Given the description of an element on the screen output the (x, y) to click on. 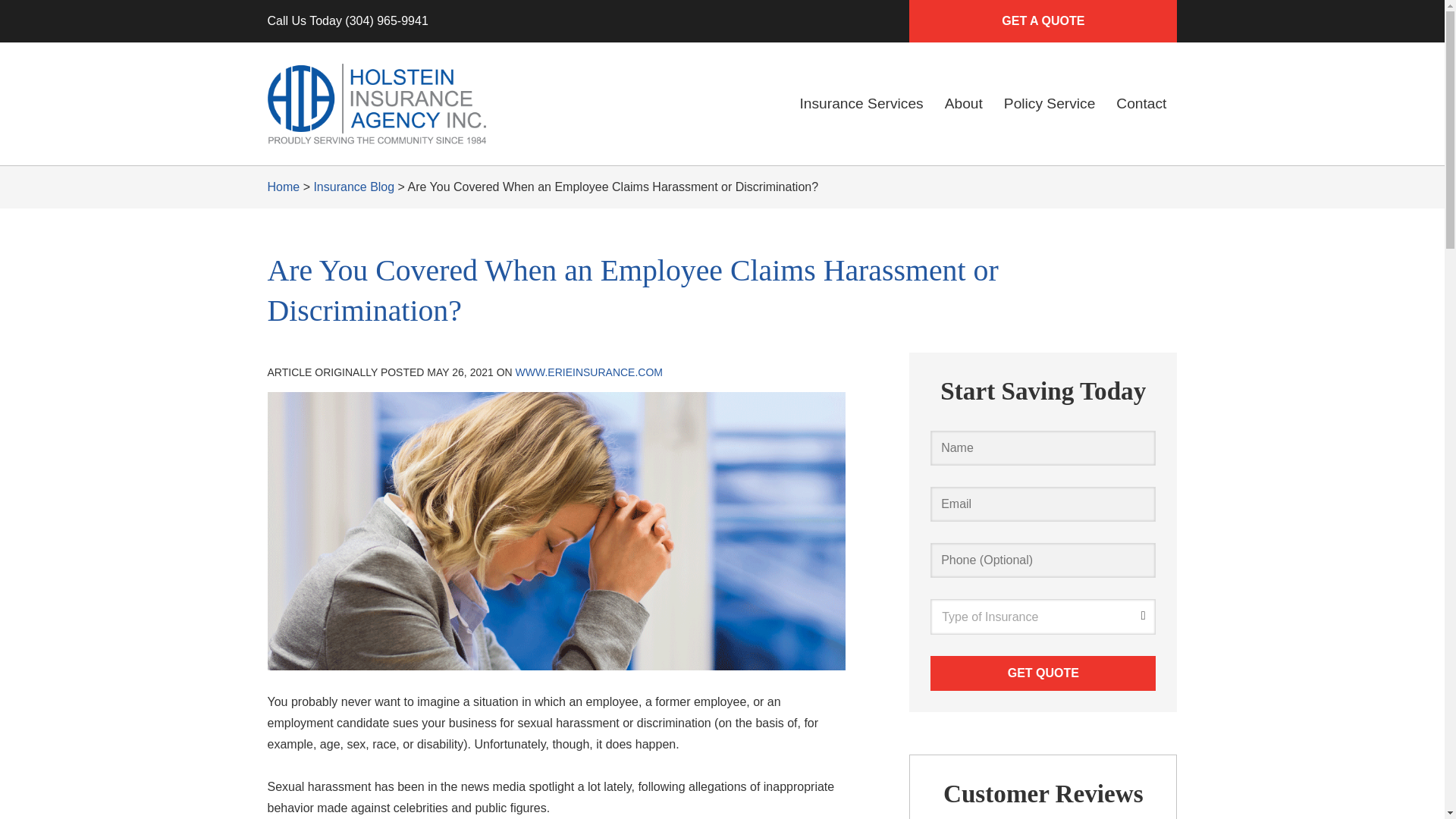
Policy Service (1049, 103)
Insurance Services (861, 103)
Get Quote (1043, 673)
About (963, 103)
GET A QUOTE (1042, 21)
Holstein Insurance Agency Inc., Elkview (375, 103)
